Given the description of an element on the screen output the (x, y) to click on. 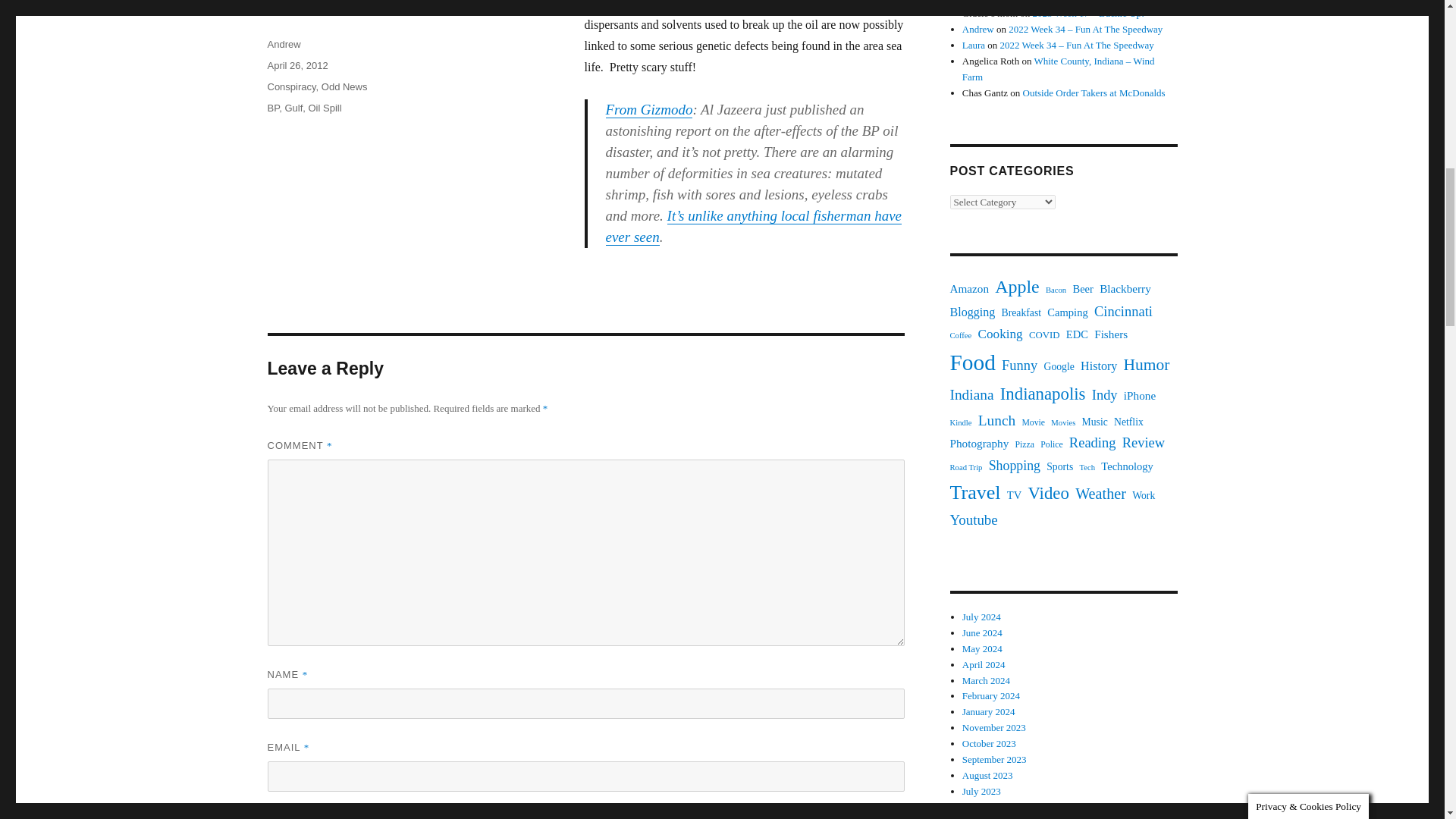
Odd News (344, 86)
Apple (1016, 286)
Andrew (978, 29)
Amazon (968, 289)
Gulf Oil Spill (505, 55)
Blogging (971, 312)
Bacon (1055, 289)
April 26, 2012 (296, 65)
BP (272, 107)
Andrew (282, 43)
Laura (973, 44)
Outside Order Takers at McDonalds (1094, 92)
Oil Spill (323, 107)
Conspiracy (290, 86)
Gulf (292, 107)
